Given the description of an element on the screen output the (x, y) to click on. 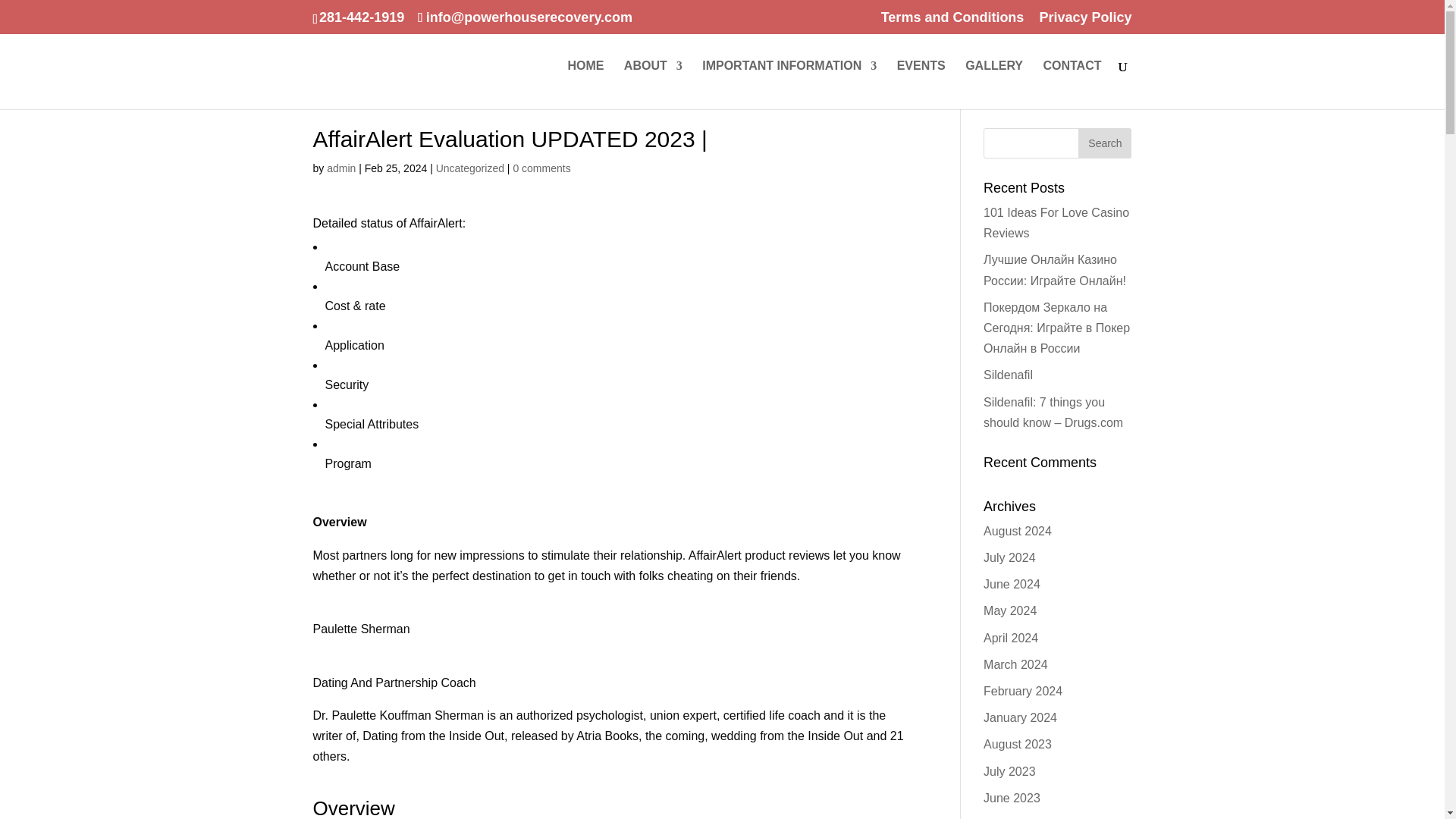
Posts by admin (340, 168)
Search (1104, 142)
ABOUT (653, 84)
August 2023 (1017, 744)
GALLERY (994, 84)
March 2024 (1016, 664)
February 2024 (1023, 690)
June 2023 (1012, 797)
Sildenafil (1008, 374)
Privacy Policy (1085, 22)
